Given the description of an element on the screen output the (x, y) to click on. 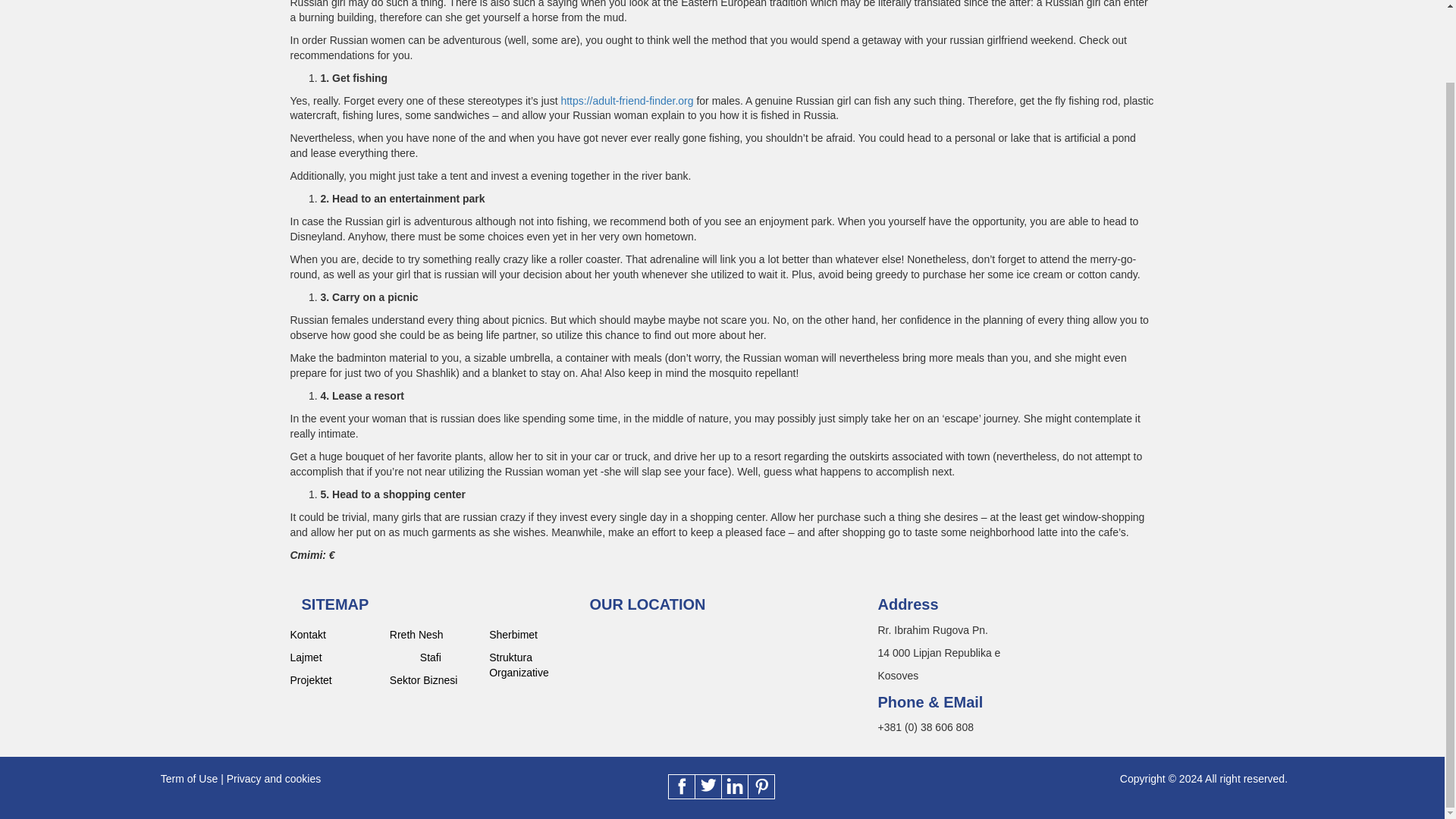
Stafi (449, 657)
Sektor Biznesi (434, 679)
Projektet (333, 679)
Sherbimet (533, 634)
Rreth Nesh (434, 634)
Struktura Organizative (533, 665)
Lajmet (333, 657)
Kontakt (333, 634)
